Given the description of an element on the screen output the (x, y) to click on. 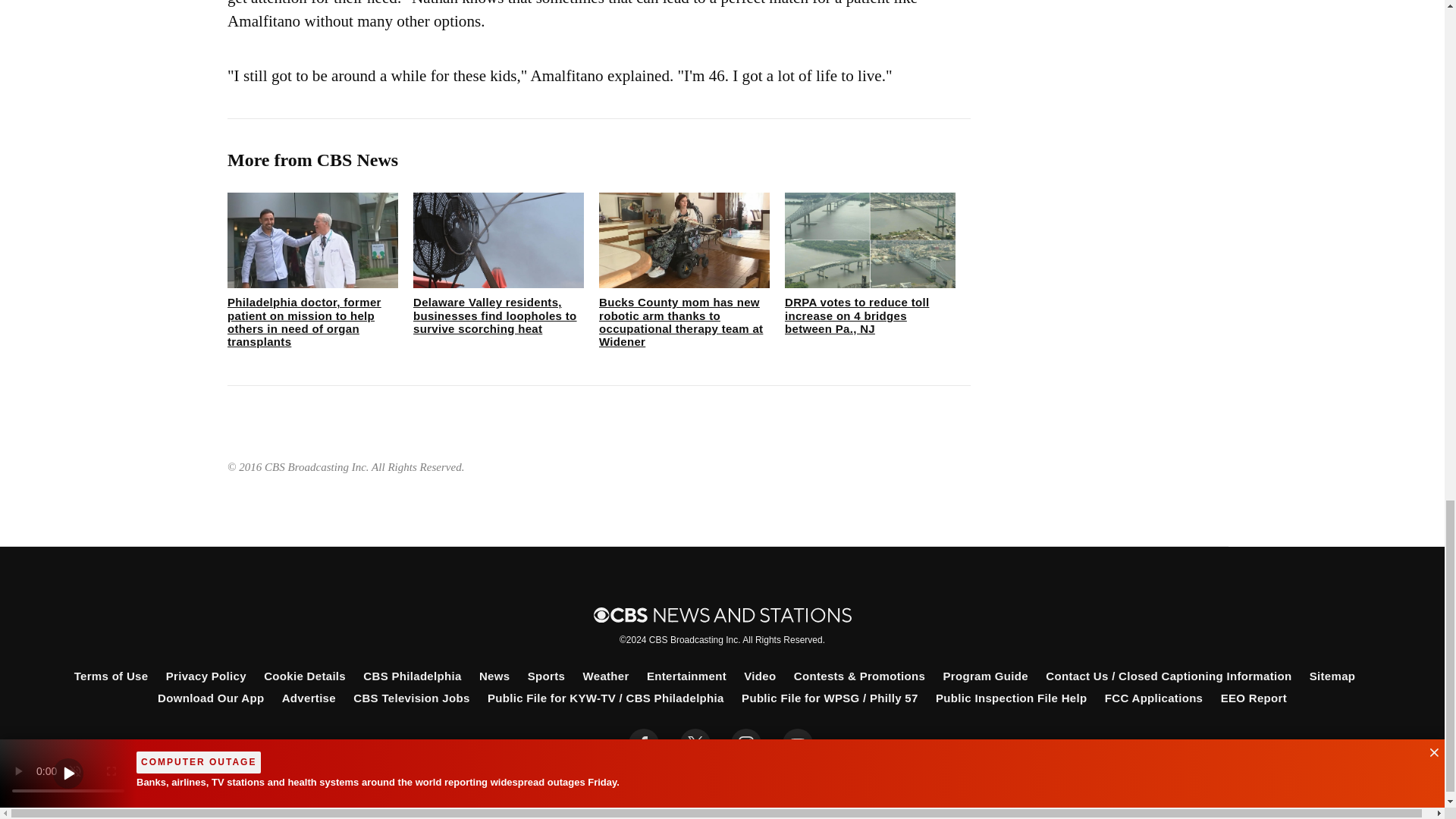
instagram (745, 743)
youtube (797, 743)
twitter (694, 743)
facebook (643, 743)
